Given the description of an element on the screen output the (x, y) to click on. 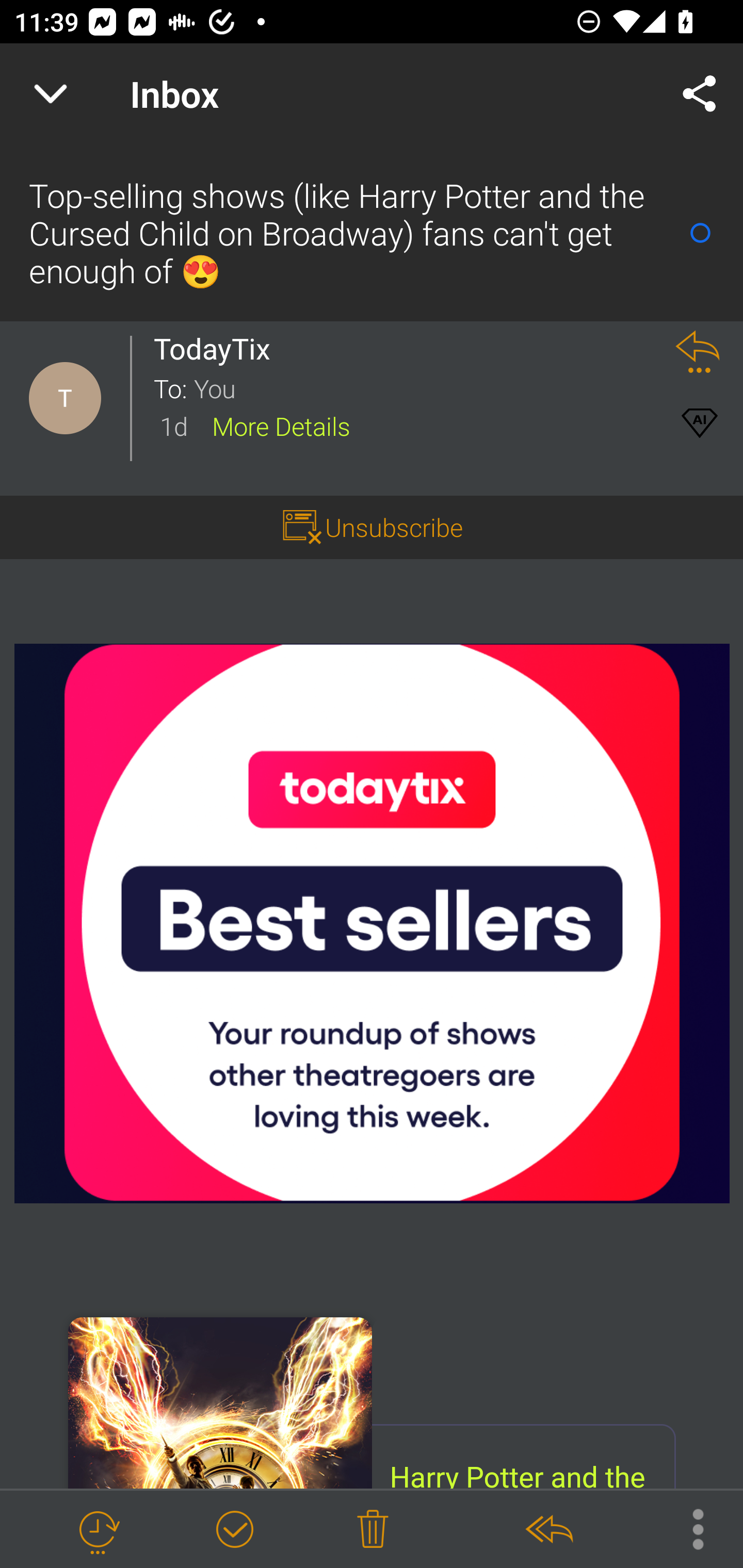
Navigate up (50, 93)
Share (699, 93)
Mark as Read (699, 232)
Contact Details (50, 381)
TodayTix (216, 348)
You (422, 387)
More Details (280, 424)
Unsubscribe (371, 527)
Unsubscribe (393, 526)
TT-108527-013003-TodayTix_480x720__1_ (219, 1402)
More Options (687, 1528)
Snooze (97, 1529)
Mark as Done (234, 1529)
Delete (372, 1529)
Reply All (548, 1529)
